Given the description of an element on the screen output the (x, y) to click on. 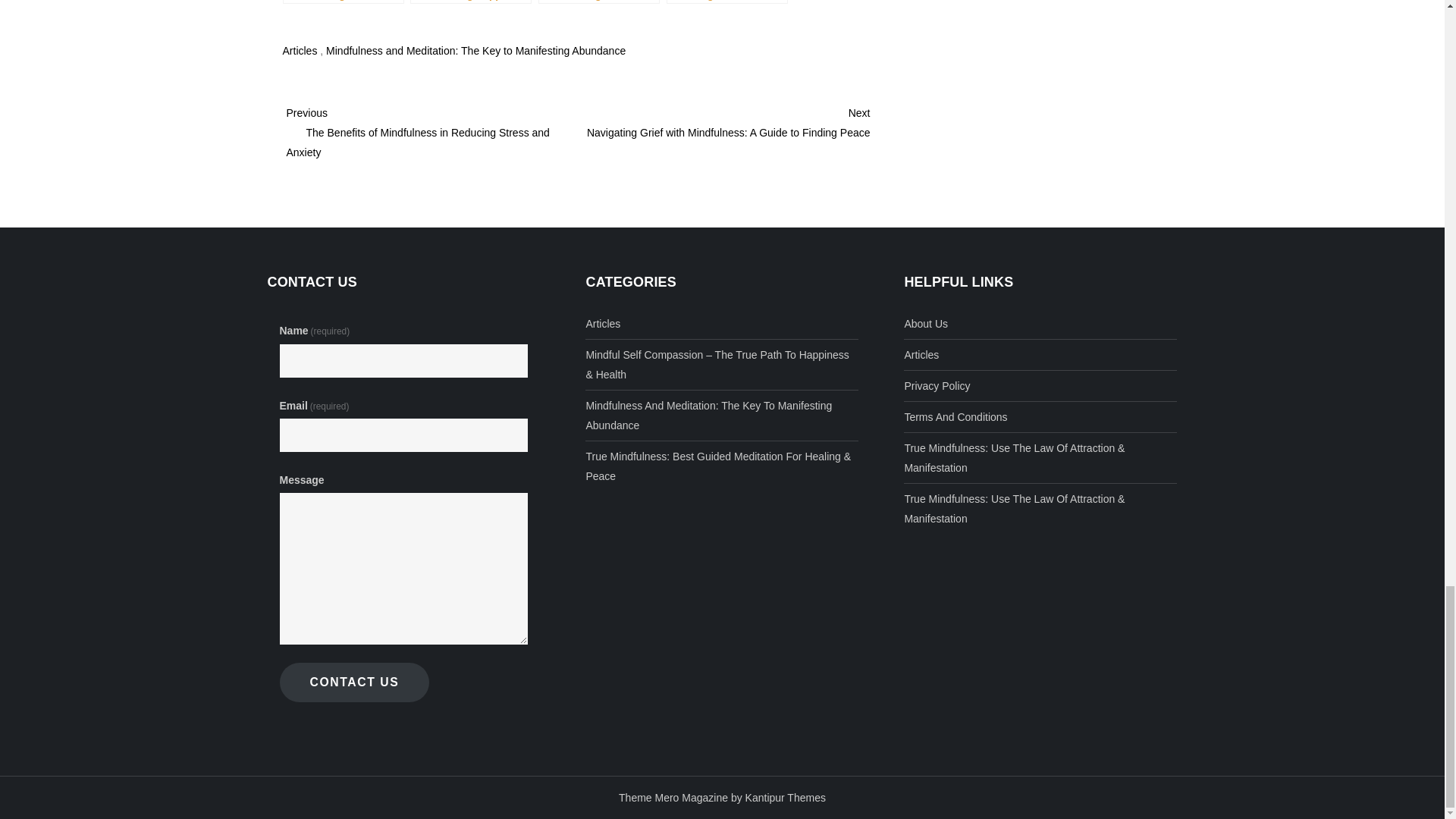
Mindfulness And Meditation: The Key To Manifesting Abundance (722, 414)
Articles (602, 323)
Articles (299, 50)
10 Proven Steps for Manifesting Success in Your Life (342, 2)
10 Simple Steps to Manifesting Happiness in Your Life (470, 2)
CONTACT US (354, 681)
10 Proven Steps for Manifesting Success in Your Life (342, 2)
